Given the description of an element on the screen output the (x, y) to click on. 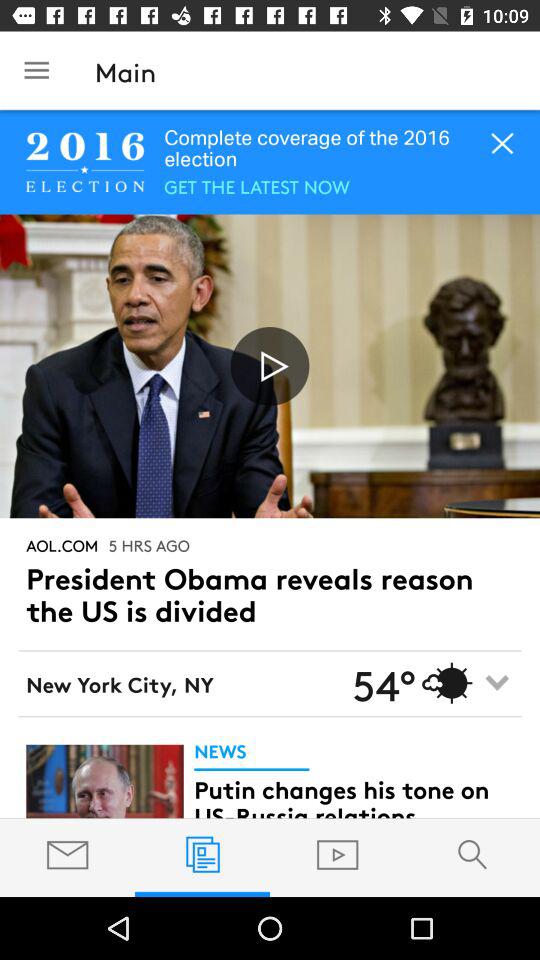
play video (269, 366)
